Given the description of an element on the screen output the (x, y) to click on. 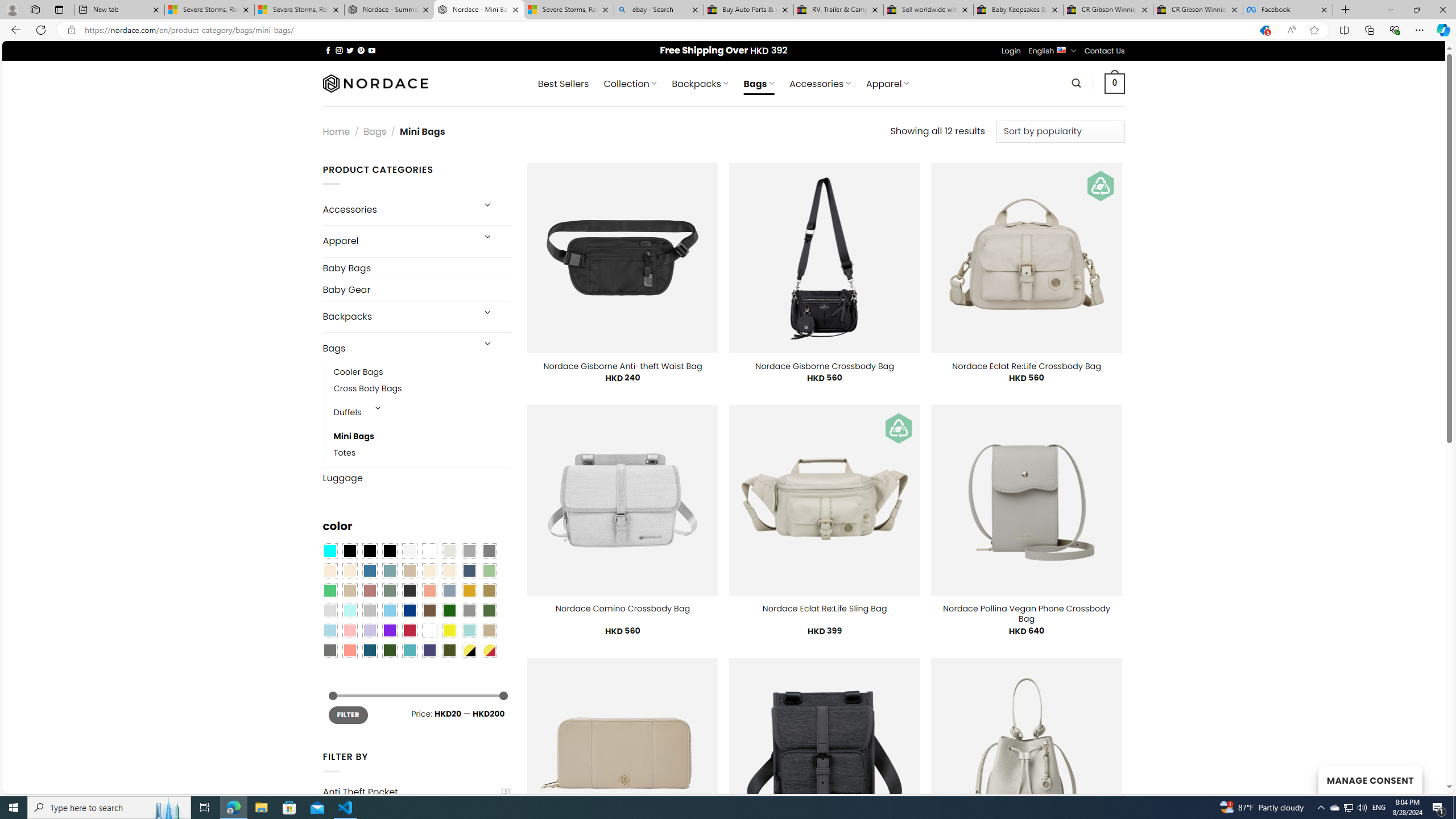
All Black (349, 550)
Emerald Green (329, 590)
Purple Navy (429, 649)
Clear (429, 550)
Red (408, 630)
Luggage (416, 477)
MANAGE CONSENT (1369, 779)
Sell worldwide with eBay (928, 9)
Pearly White (408, 550)
Follow on Twitter (349, 49)
